Given the description of an element on the screen output the (x, y) to click on. 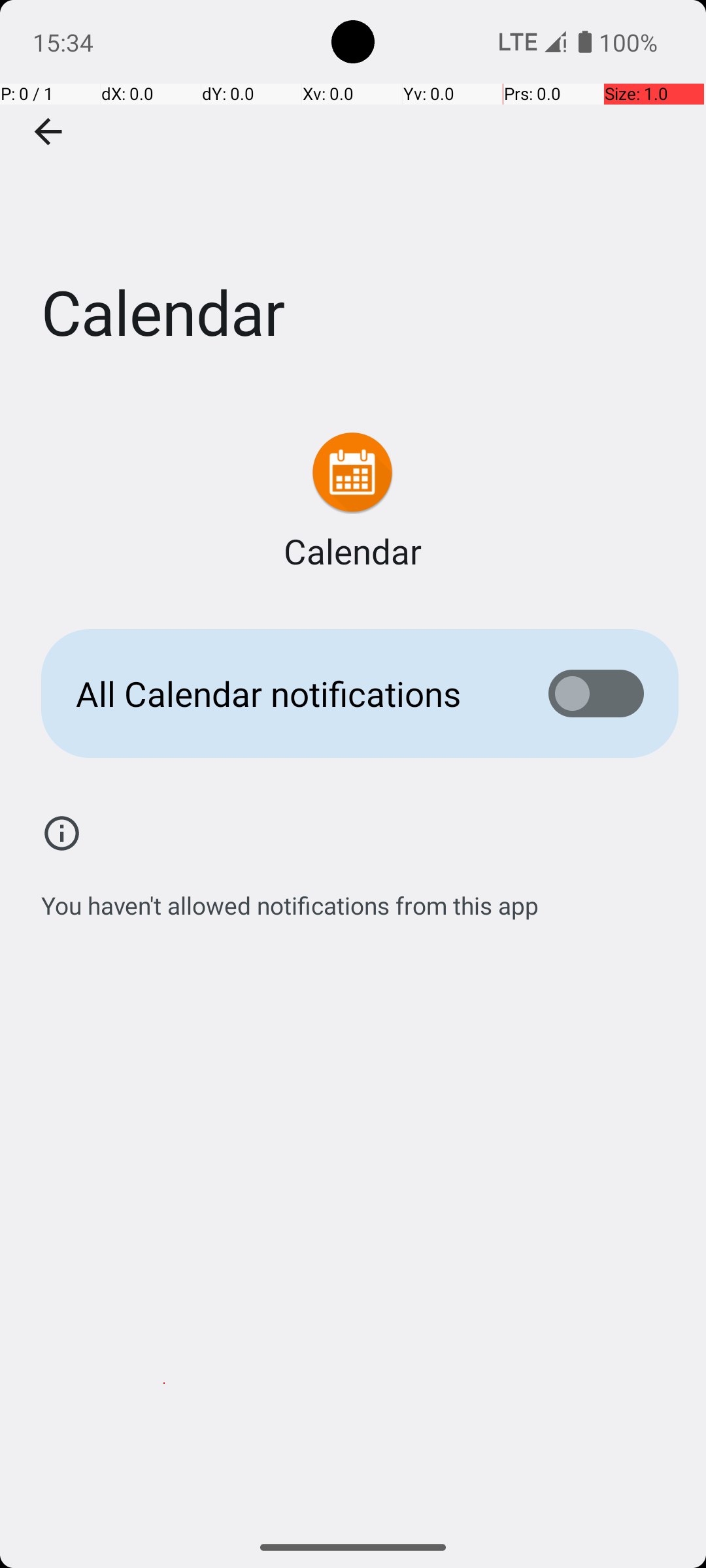
All Calendar notifications Element type: android.widget.TextView (291, 693)
You haven't allowed notifications from this app Element type: android.widget.TextView (290, 898)
